Given the description of an element on the screen output the (x, y) to click on. 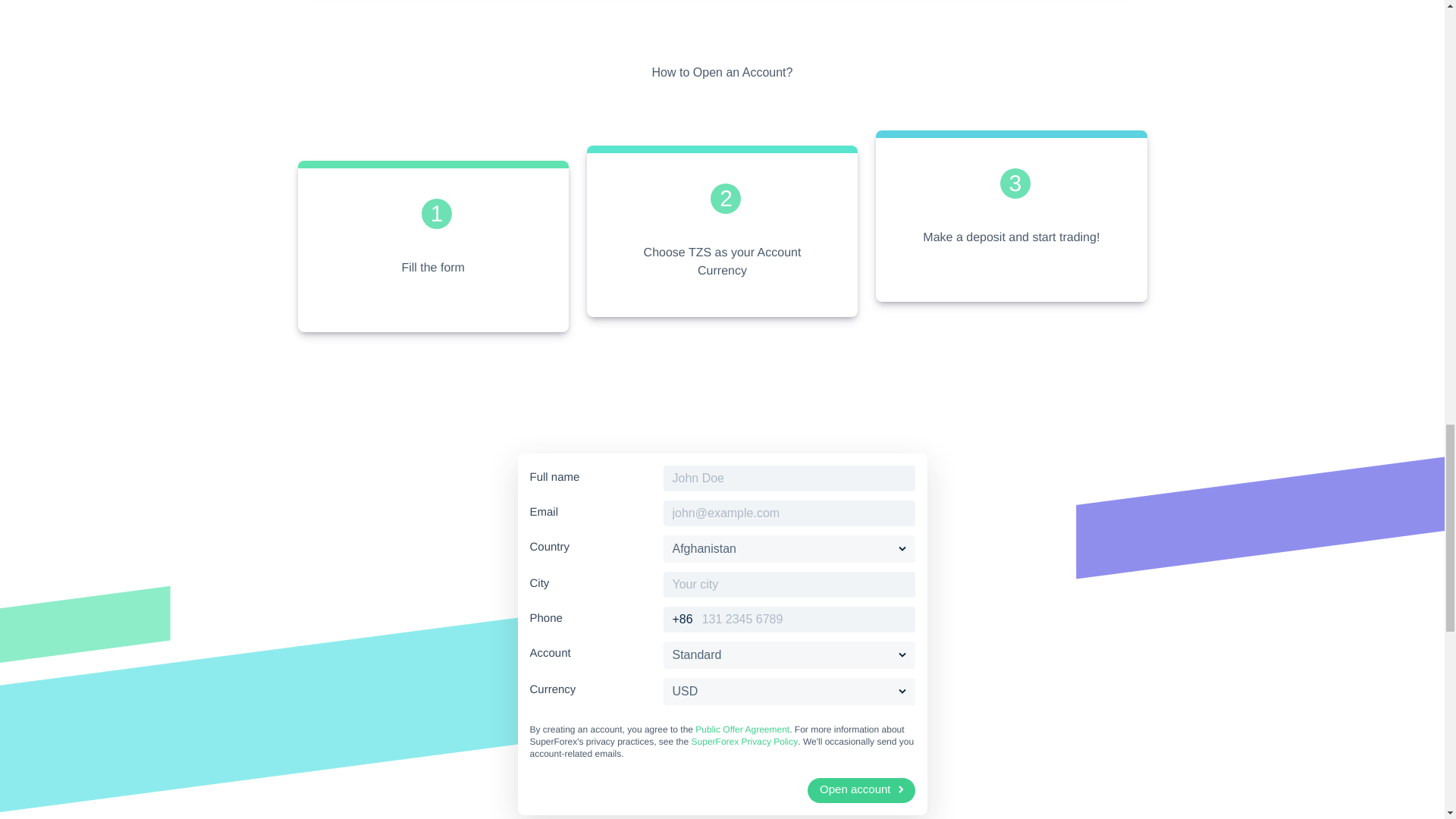
Open account (861, 790)
Public Offer Agreement (742, 729)
SuperForex Privacy Policy (744, 741)
